Given the description of an element on the screen output the (x, y) to click on. 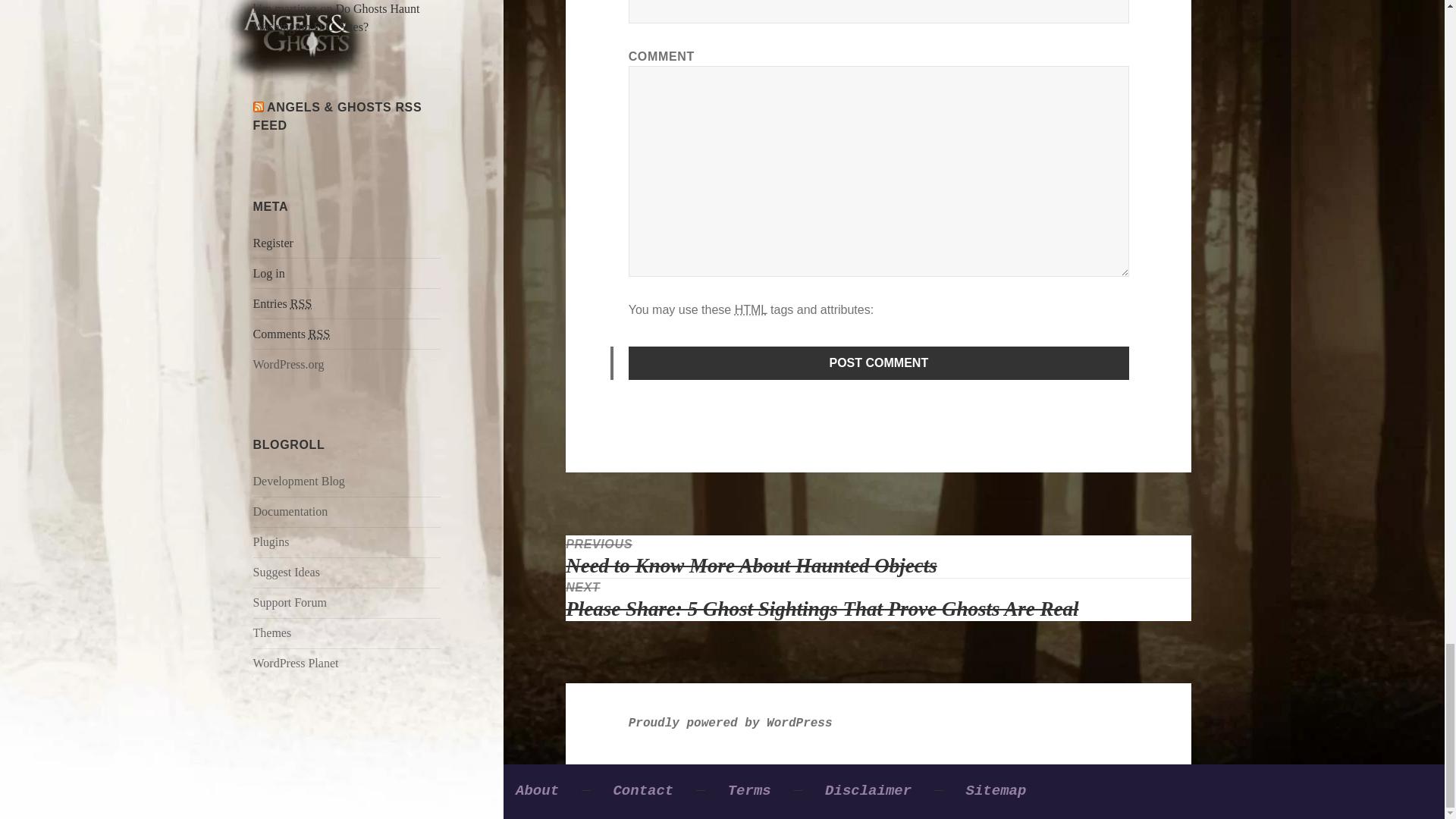
Post Comment (878, 363)
